Given the description of an element on the screen output the (x, y) to click on. 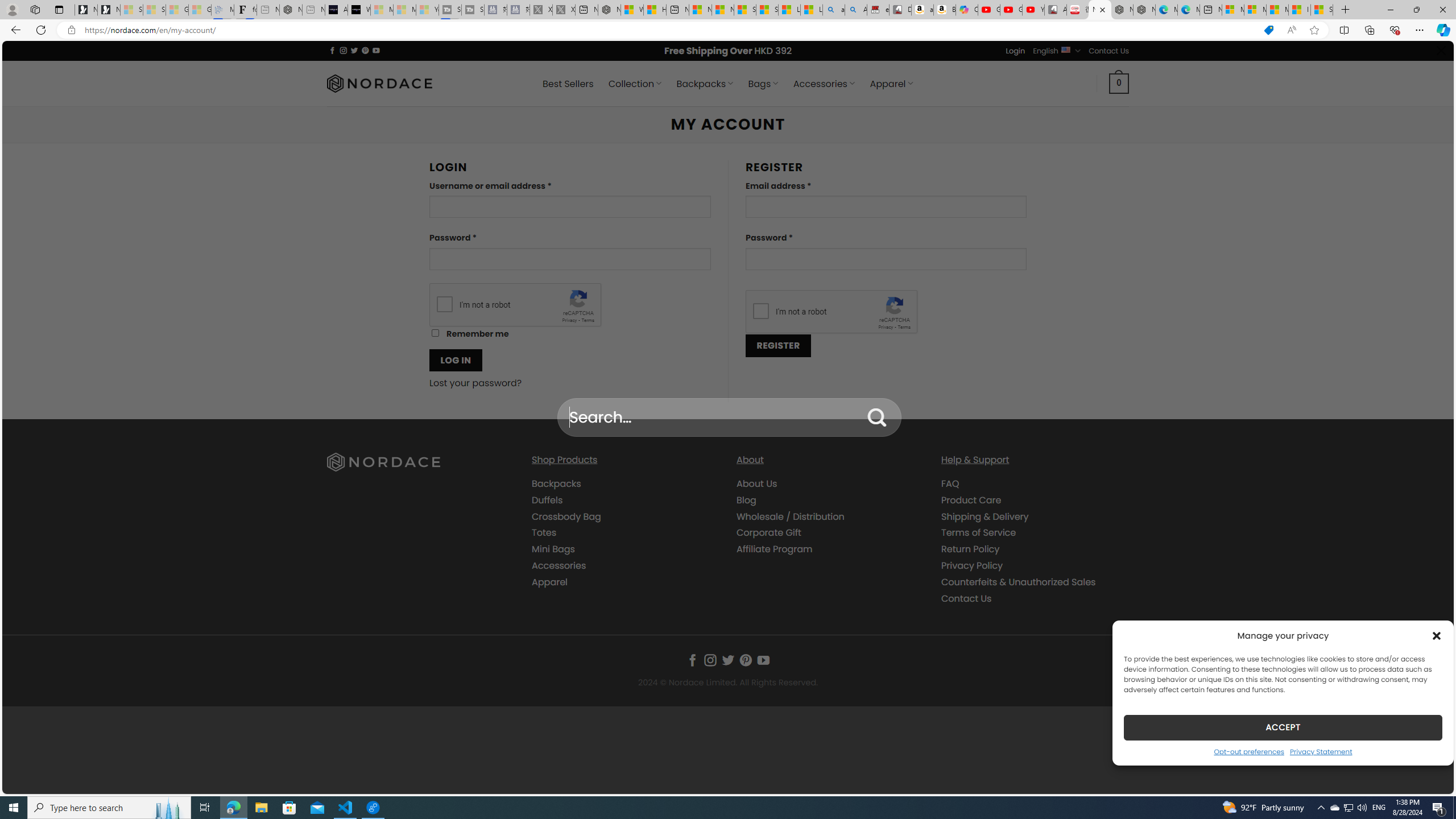
Shipping & Delivery (984, 516)
Go to top (1430, 777)
Terms of Service (1034, 532)
Nordace - #1 Japanese Best-Seller - Siena Smart Backpack (291, 9)
Totes (543, 532)
Search for: (729, 417)
Login (1015, 50)
Microsoft Start Sports - Sleeping (381, 9)
Wildlife - MSN (631, 9)
